Given the description of an element on the screen output the (x, y) to click on. 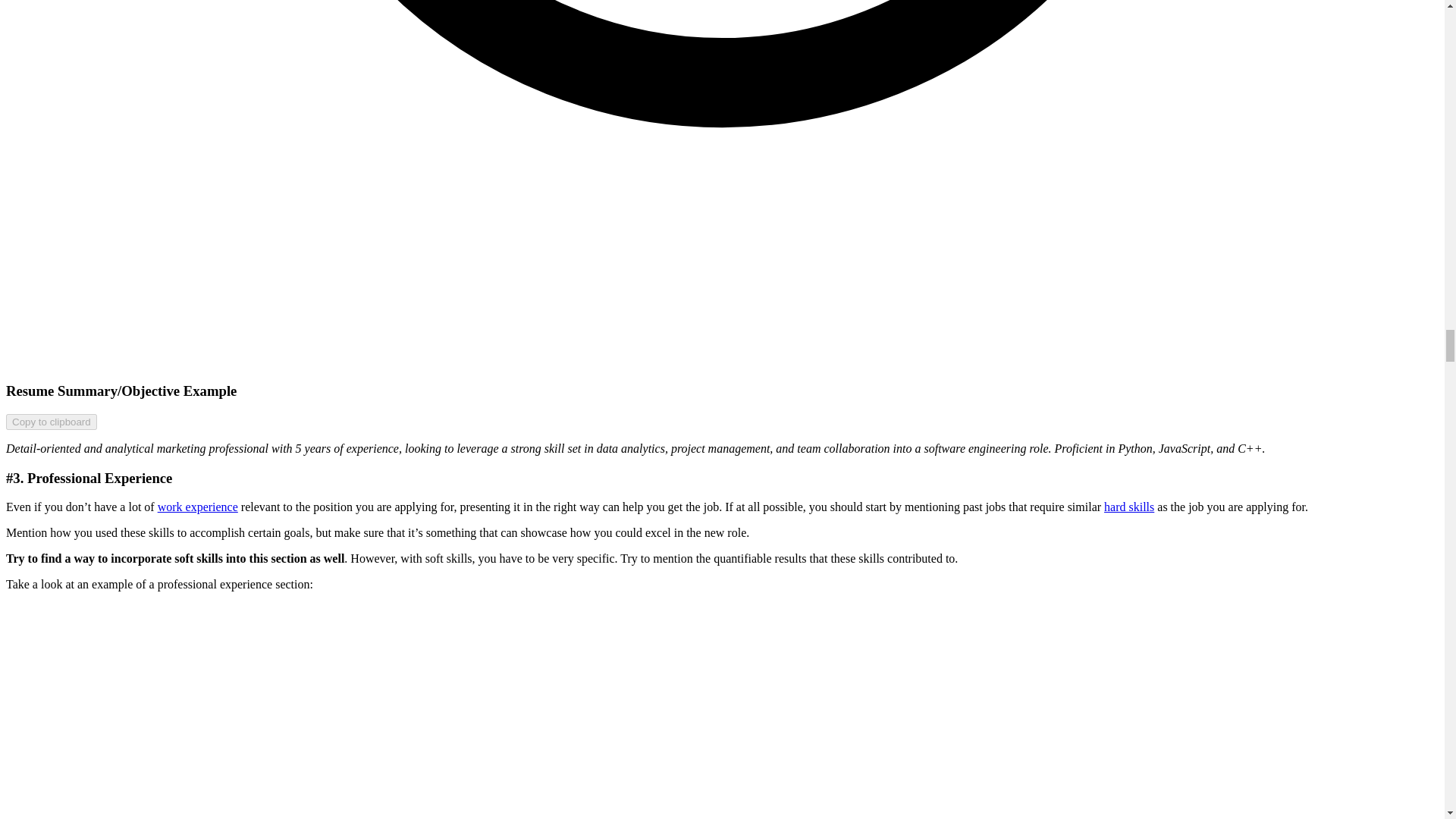
work experience (197, 506)
Copy to clipboard (51, 421)
hard skills (1128, 506)
